Given the description of an element on the screen output the (x, y) to click on. 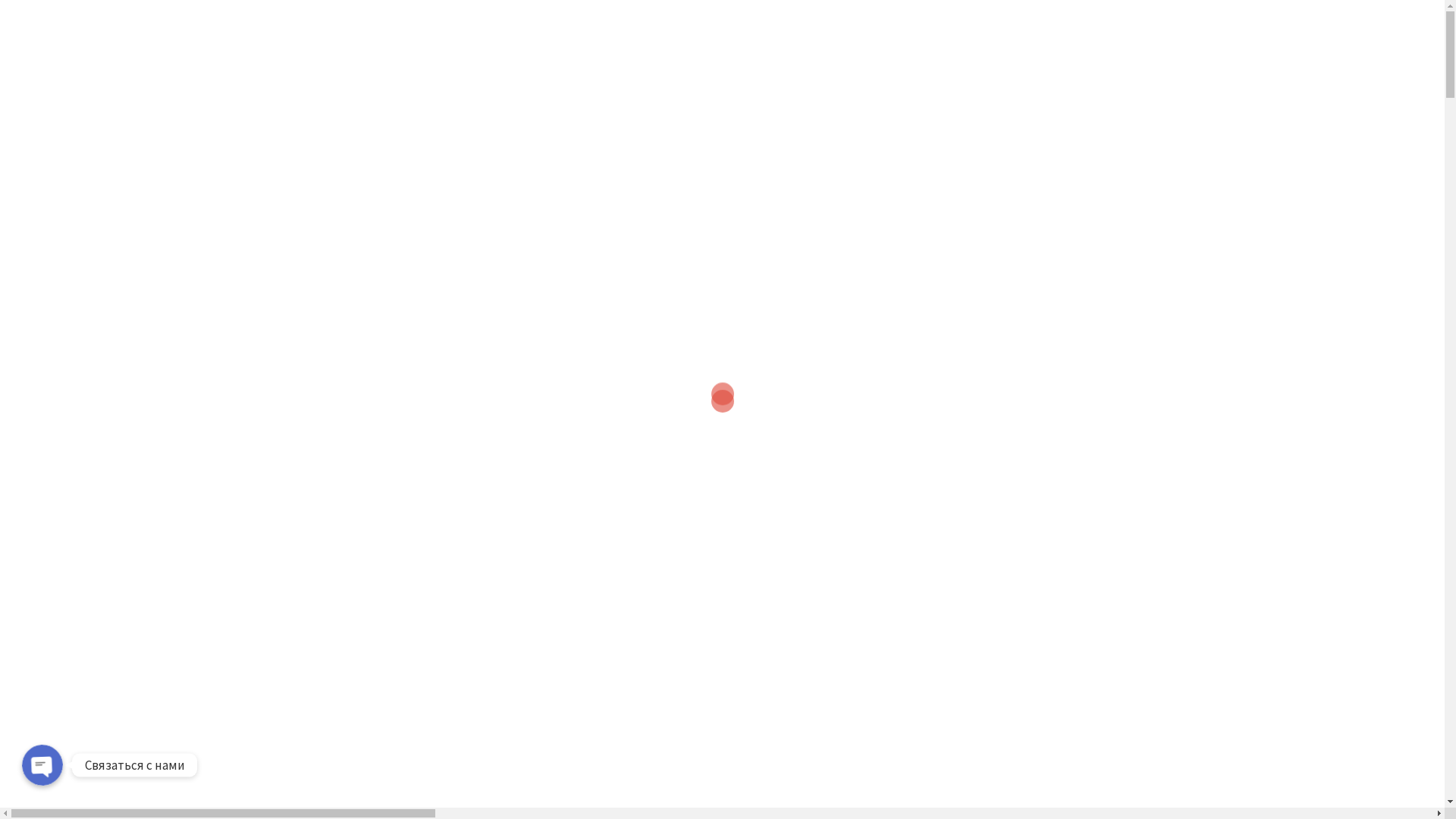
BioQuantum Element type: hover (327, 51)
